Given the description of an element on the screen output the (x, y) to click on. 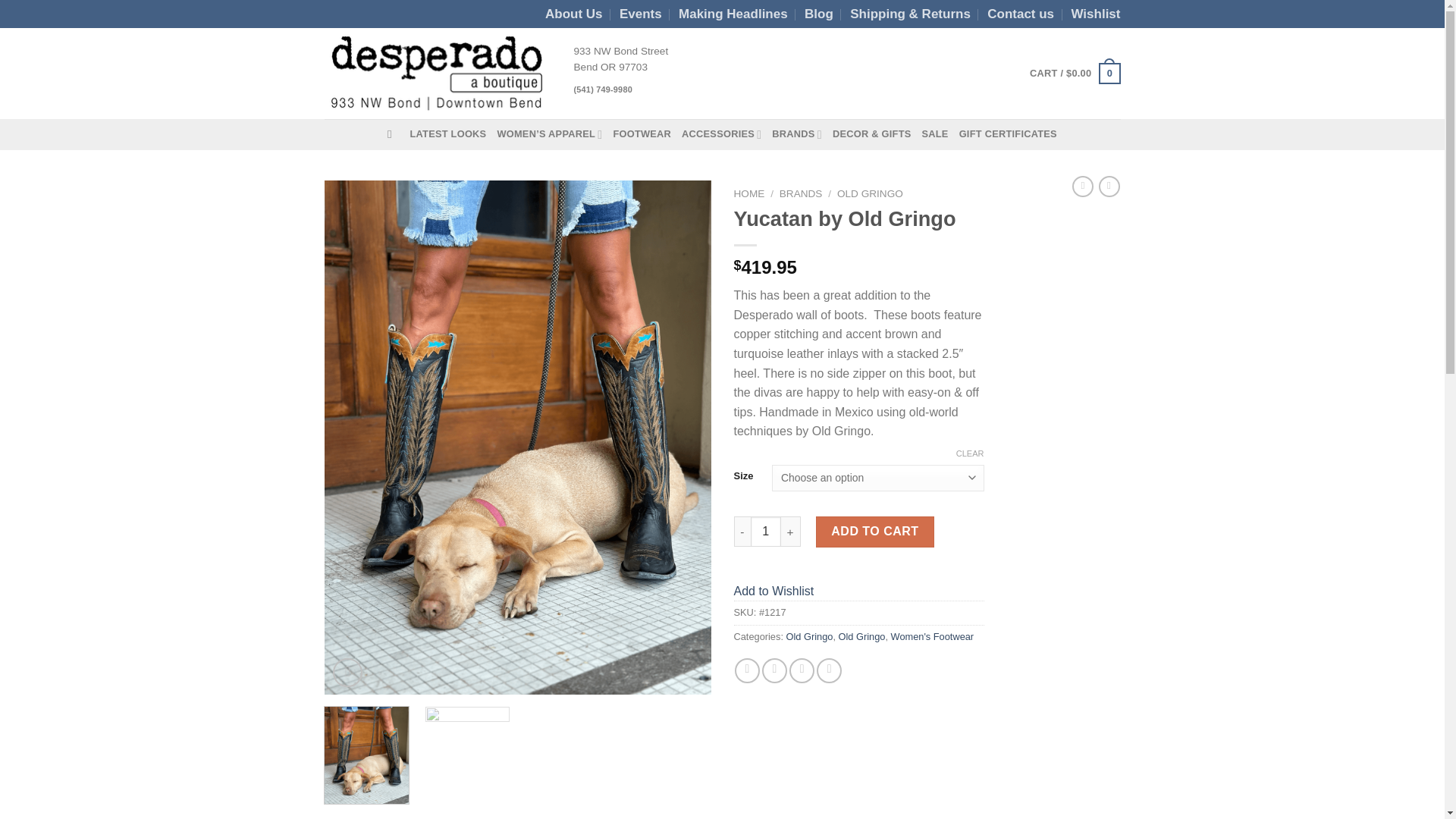
Email to a Friend (801, 670)
Wishlist (1094, 13)
Pin on Pinterest (828, 670)
Contact us (1020, 13)
BRANDS (796, 133)
Zoom (347, 672)
Qty (765, 531)
Share on Facebook (747, 670)
Desperado Boutique - Bend OR (437, 73)
LATEST LOOKS (447, 133)
Cart (1074, 73)
Share on Twitter (774, 670)
- (742, 531)
